Given the description of an element on the screen output the (x, y) to click on. 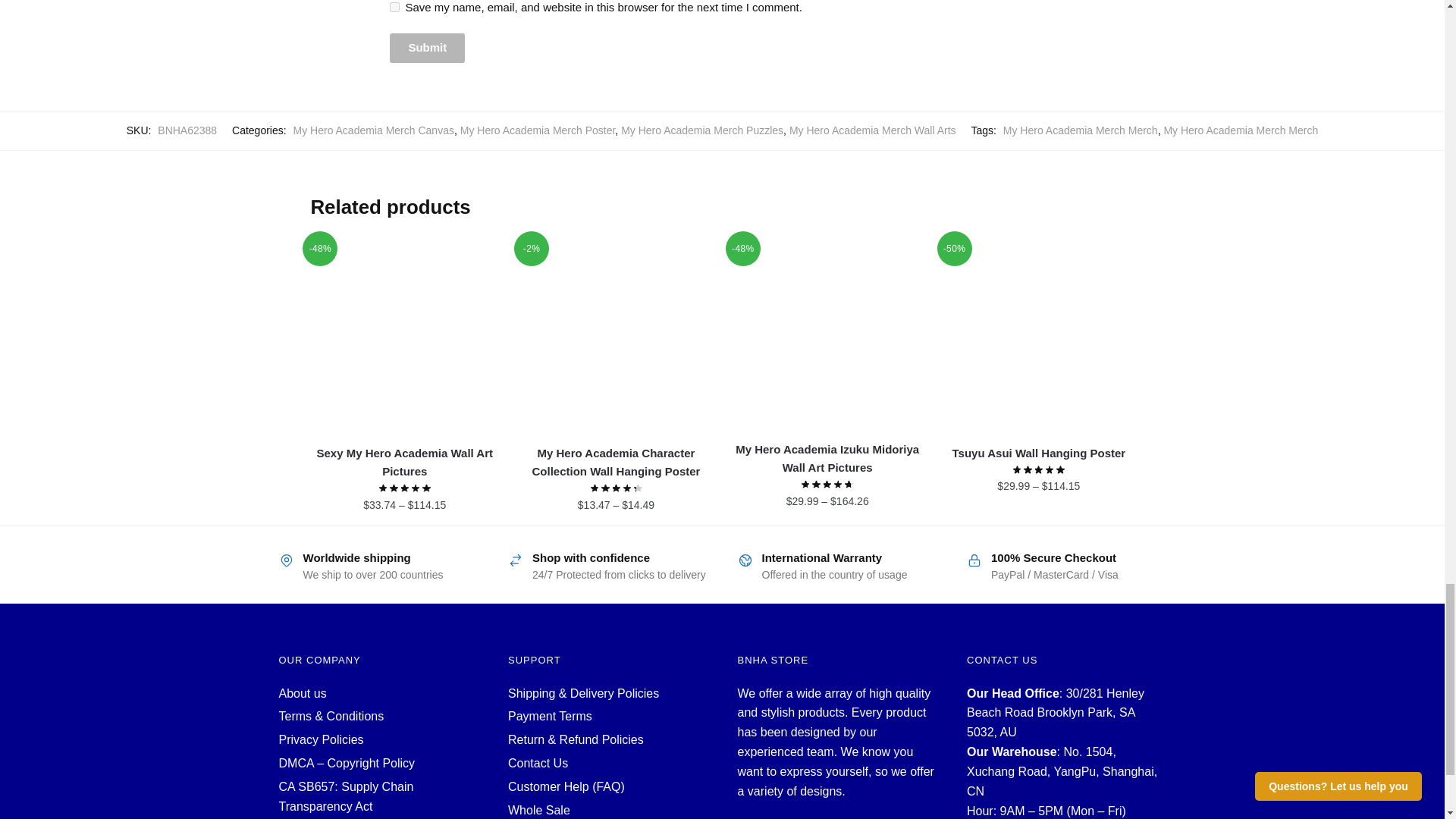
yes (394, 7)
Submit (427, 48)
